Given the description of an element on the screen output the (x, y) to click on. 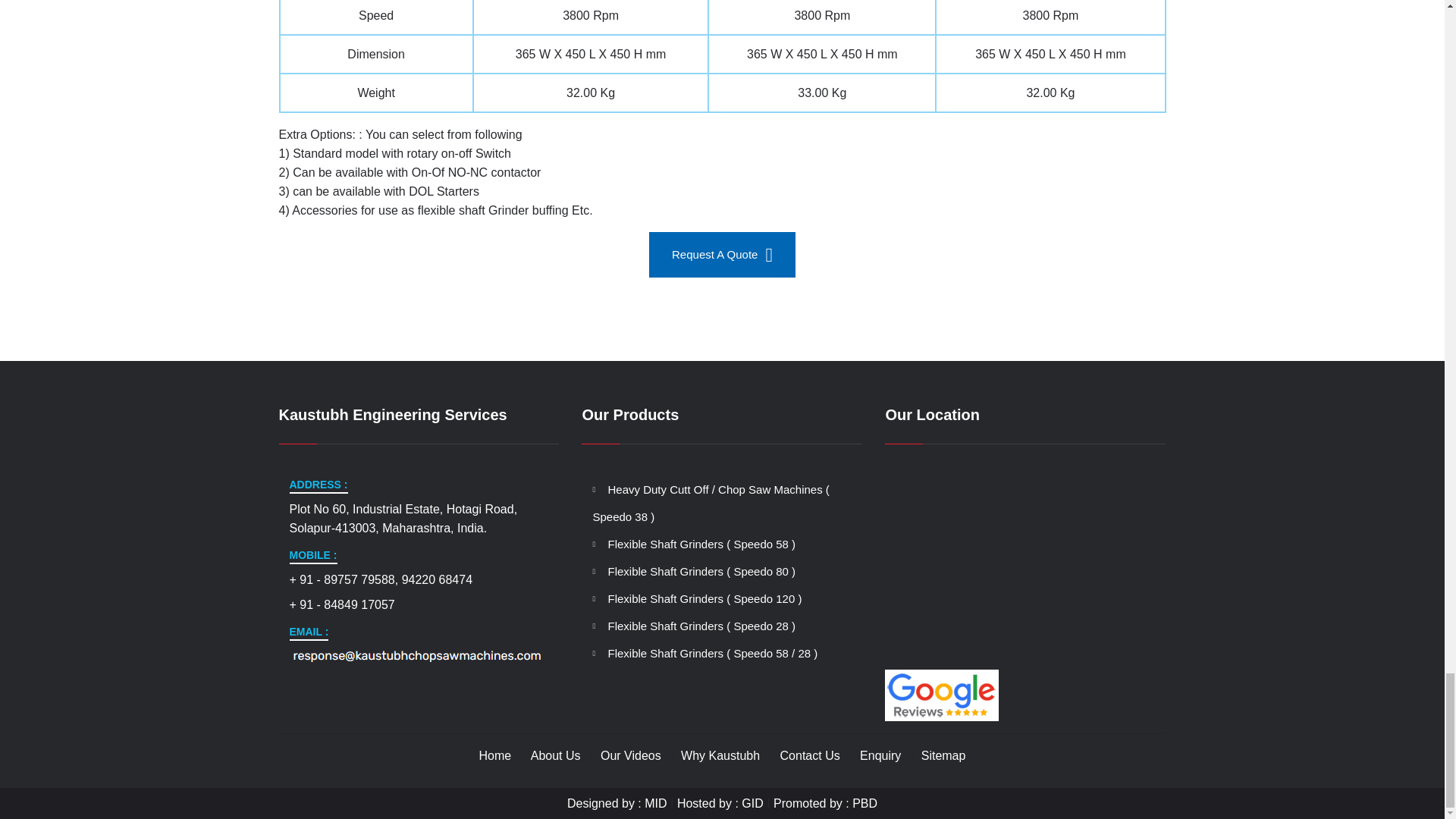
Home (495, 755)
Request A Quote (721, 254)
Contact Us (810, 755)
Enquiry (880, 755)
Our Videos (630, 755)
Sitemap (943, 755)
Why Kaustubh (720, 755)
Designed by : MID (616, 802)
About Us (555, 755)
